Given the description of an element on the screen output the (x, y) to click on. 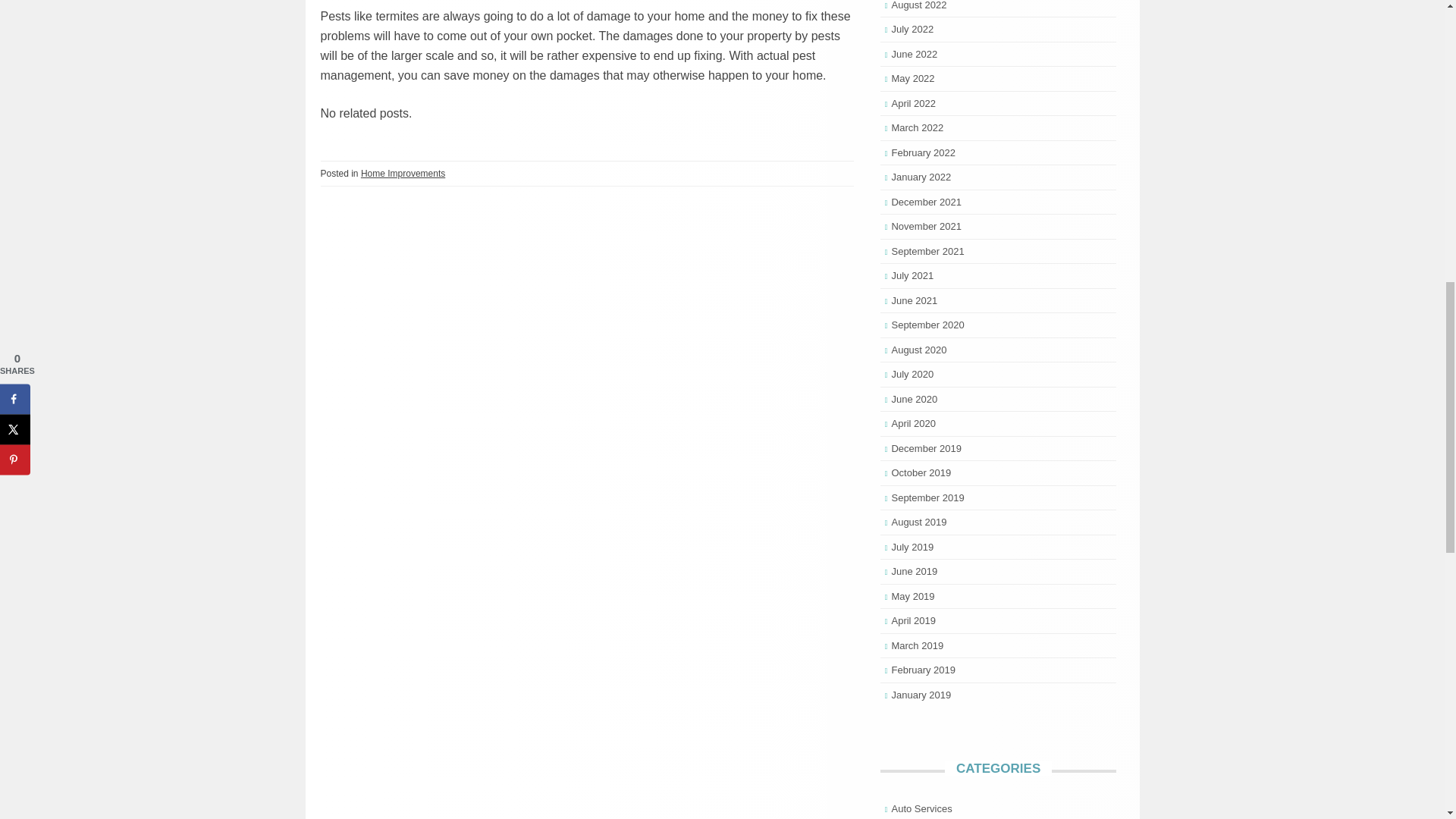
January 2022 (920, 176)
July 2022 (912, 29)
Home Improvements (403, 173)
August 2022 (918, 4)
February 2022 (923, 152)
May 2022 (912, 78)
March 2022 (917, 127)
June 2022 (914, 53)
April 2022 (913, 102)
